Given the description of an element on the screen output the (x, y) to click on. 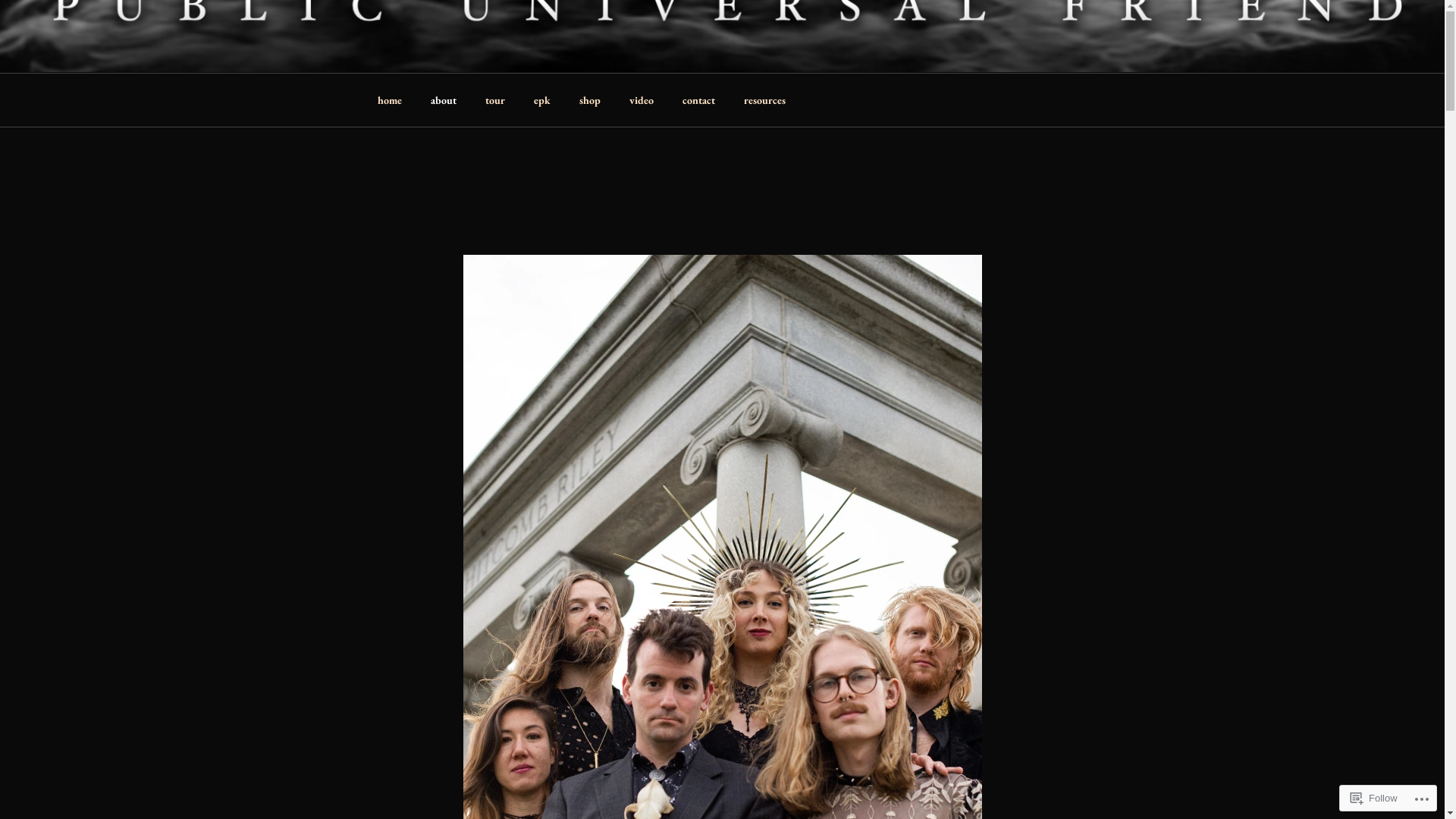
PUBLIC UNIVERSAL FRIEND Element type: text (583, 53)
home Element type: text (389, 100)
about Element type: text (443, 100)
tour Element type: text (494, 100)
resources Element type: text (765, 100)
shop Element type: text (589, 100)
Follow Element type: text (1373, 797)
video Element type: text (640, 100)
epk Element type: text (541, 100)
contact Element type: text (698, 100)
